Given the description of an element on the screen output the (x, y) to click on. 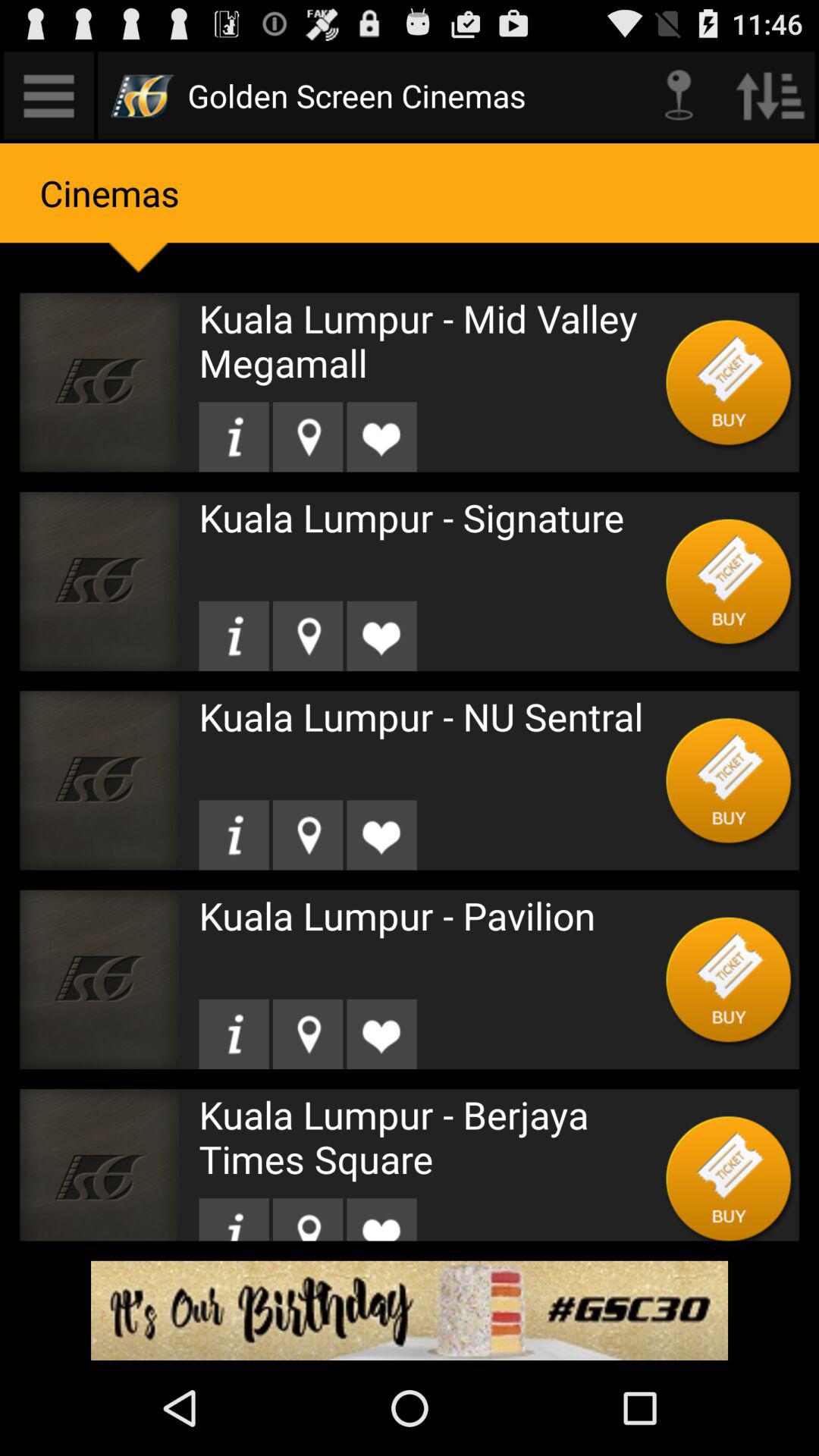
open minute (48, 95)
